Given the description of an element on the screen output the (x, y) to click on. 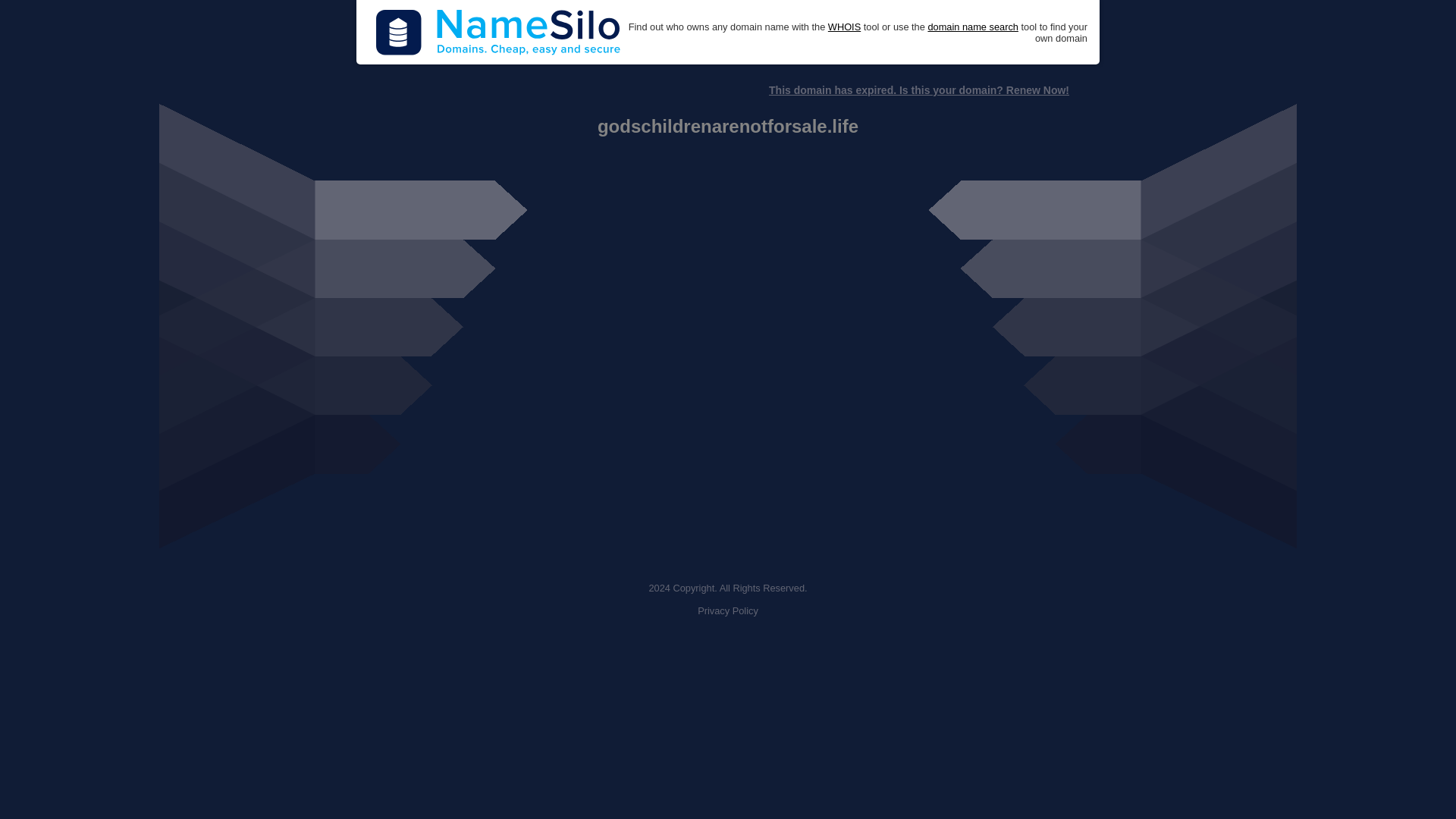
domain name search (972, 26)
Privacy Policy (727, 610)
This domain has expired. Is this your domain? Renew Now! (918, 90)
WHOIS (844, 26)
